Given the description of an element on the screen output the (x, y) to click on. 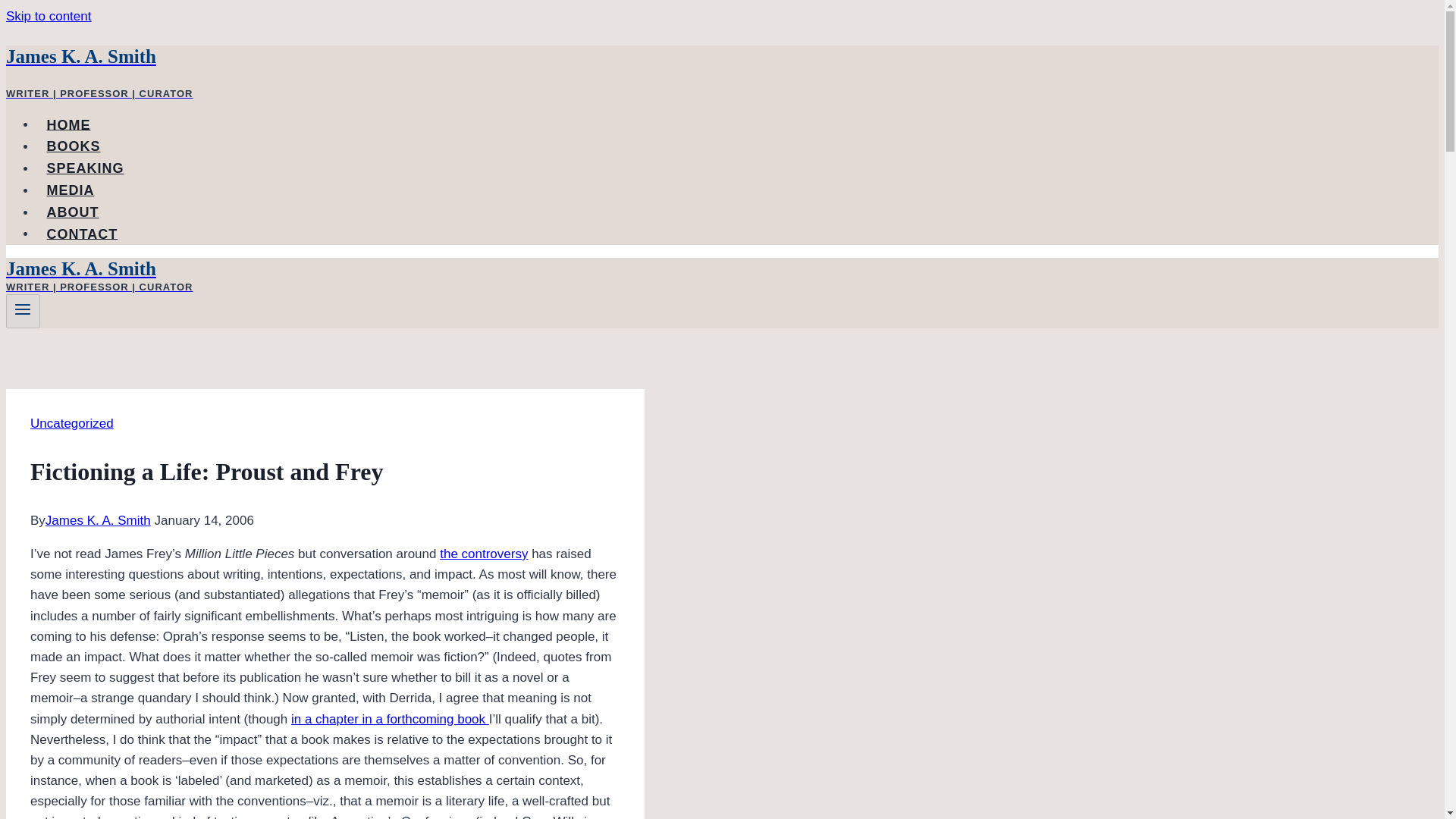
BOOKS (73, 146)
Toggle Menu (22, 309)
the controversy (483, 554)
Toggle Menu (22, 310)
MEDIA (70, 190)
in a chapter in a forthcoming book (390, 718)
ABOUT (72, 212)
SPEAKING (84, 168)
HOME (68, 124)
James K. A. Smith (98, 520)
